Given the description of an element on the screen output the (x, y) to click on. 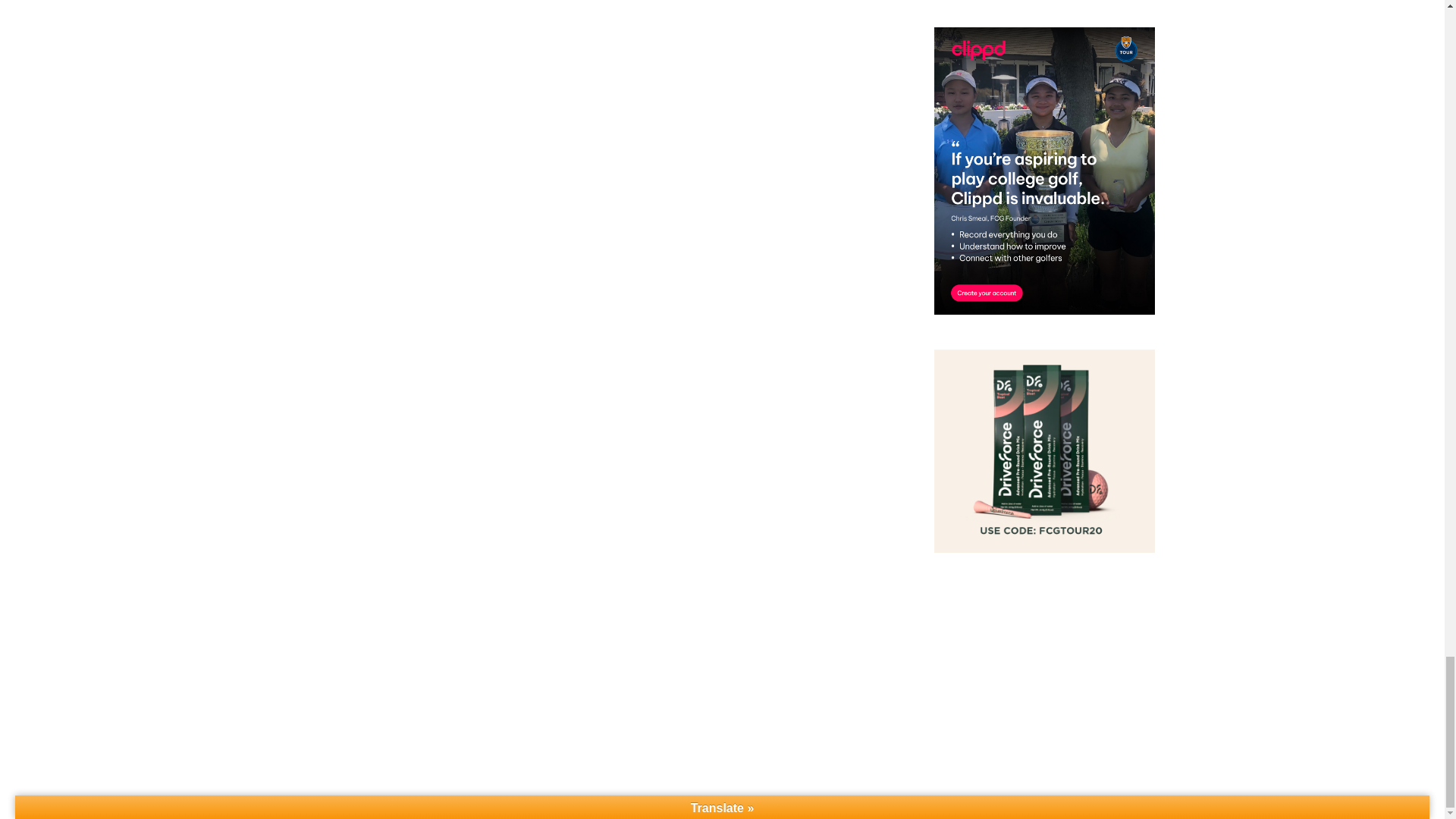
YouTube video player (1044, 644)
